Given the description of an element on the screen output the (x, y) to click on. 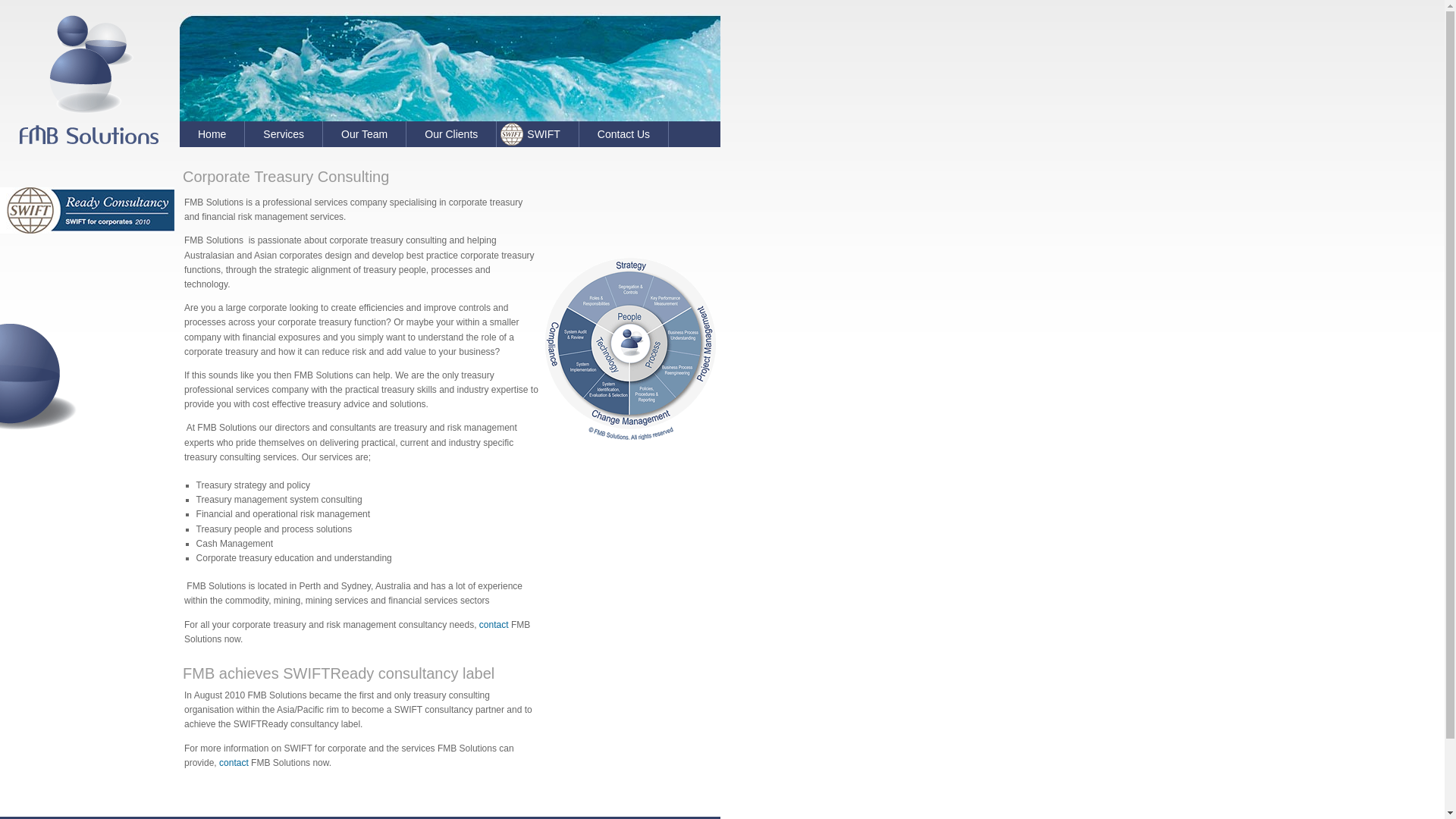
Home Element type: text (211, 134)
SWIFT Element type: text (537, 134)
Our Clients Element type: text (451, 134)
Our Team Element type: text (364, 134)
Contact Us Element type: text (623, 134)
contact Element type: text (493, 623)
contact Element type: text (233, 762)
Services Element type: text (283, 134)
